Given the description of an element on the screen output the (x, y) to click on. 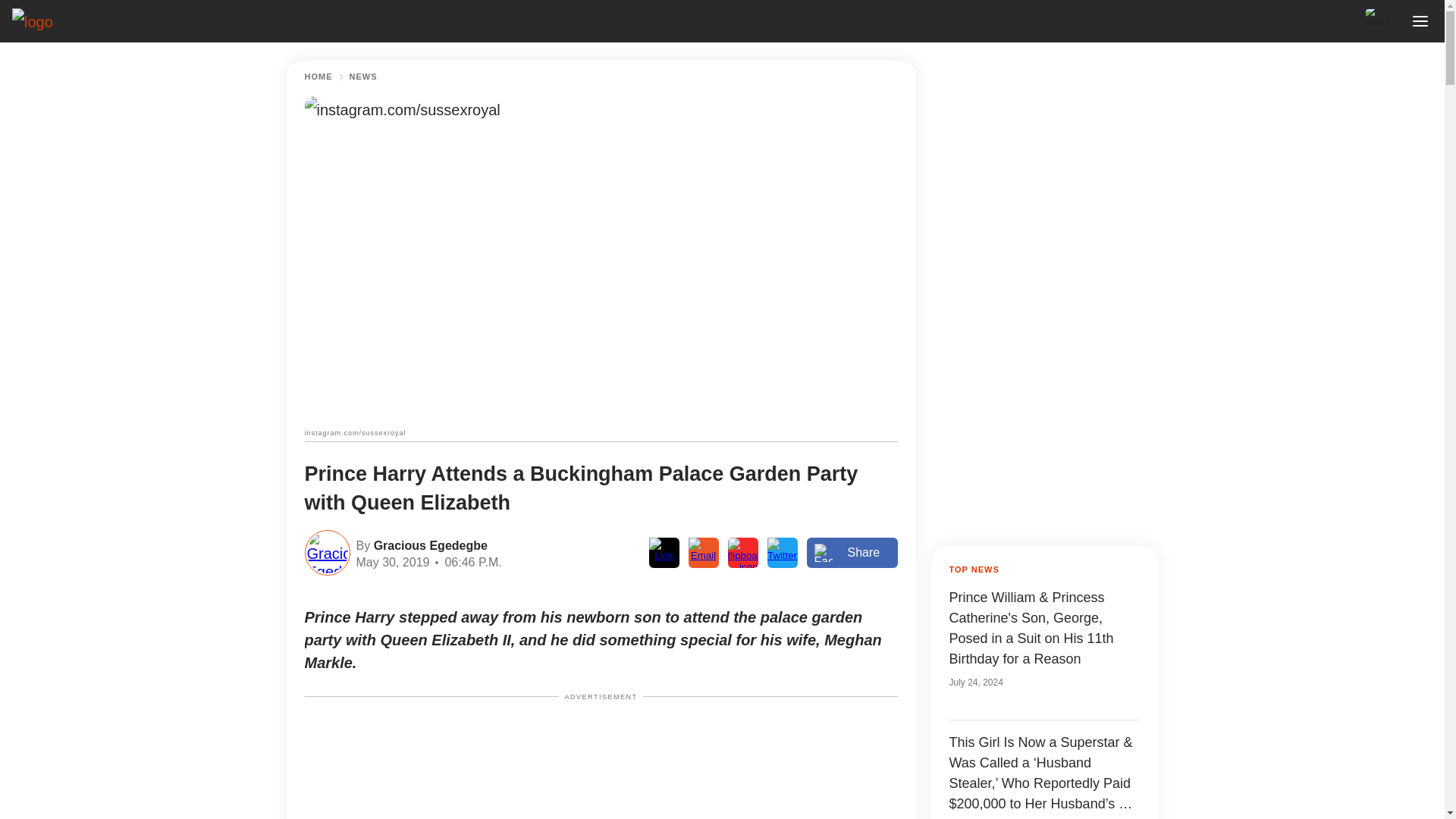
Gracious Egedegbe (428, 544)
HOME (318, 76)
NEWS (363, 76)
